Given the description of an element on the screen output the (x, y) to click on. 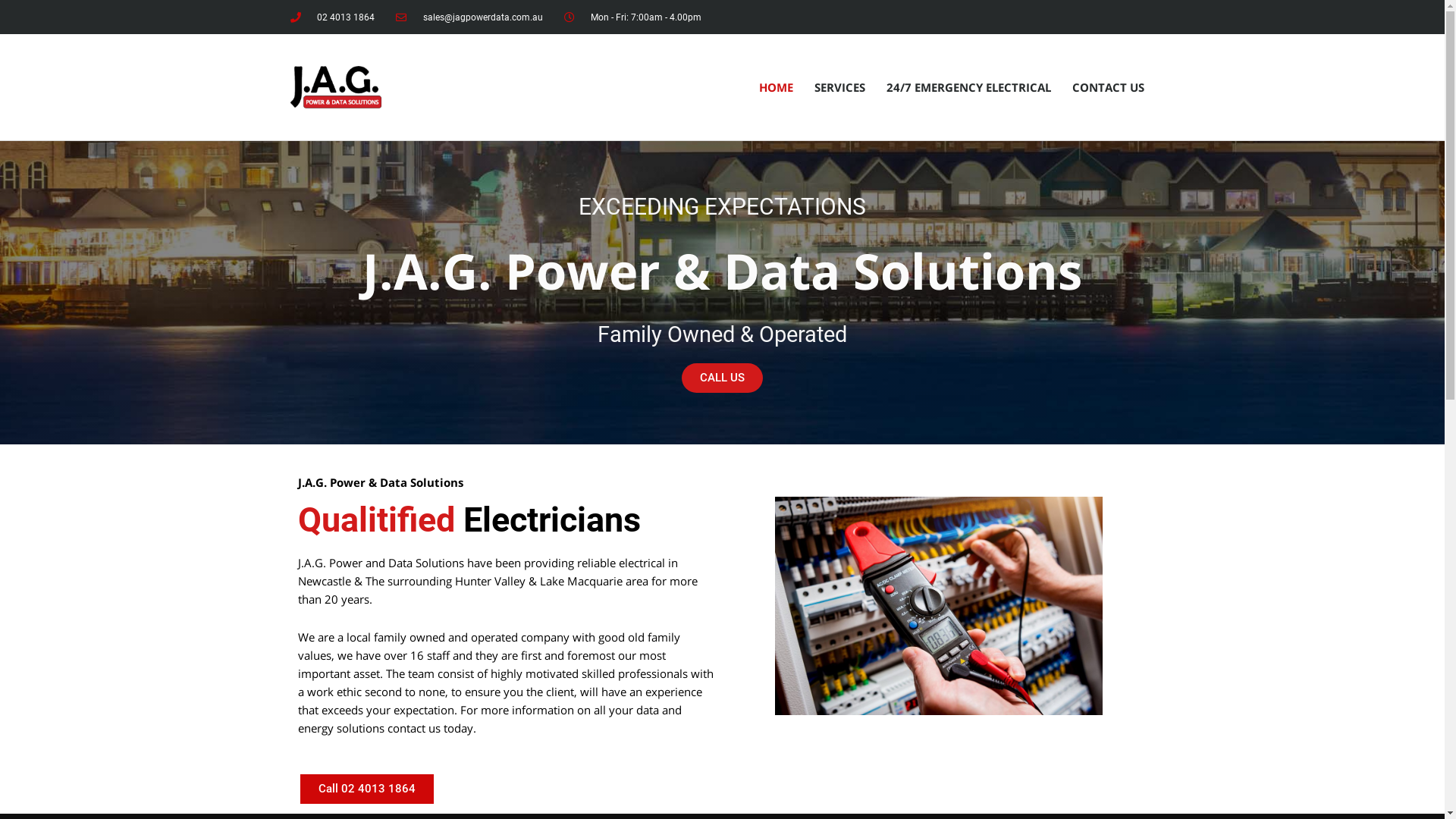
jagpowerdatalogo - JAG Power & Data Solutions Element type: hover (334, 86)
SERVICES Element type: text (839, 87)
sales@jagpowerdata.com.au Element type: text (468, 16)
24/7 EMERGENCY ELECTRICAL Element type: text (967, 87)
Call 02 4013 1864 Element type: text (366, 788)
CALL US Element type: text (721, 377)
CONTACT US Element type: text (1107, 87)
HOME Element type: text (775, 87)
02 4013 1864 Element type: text (331, 16)
